Given the description of an element on the screen output the (x, y) to click on. 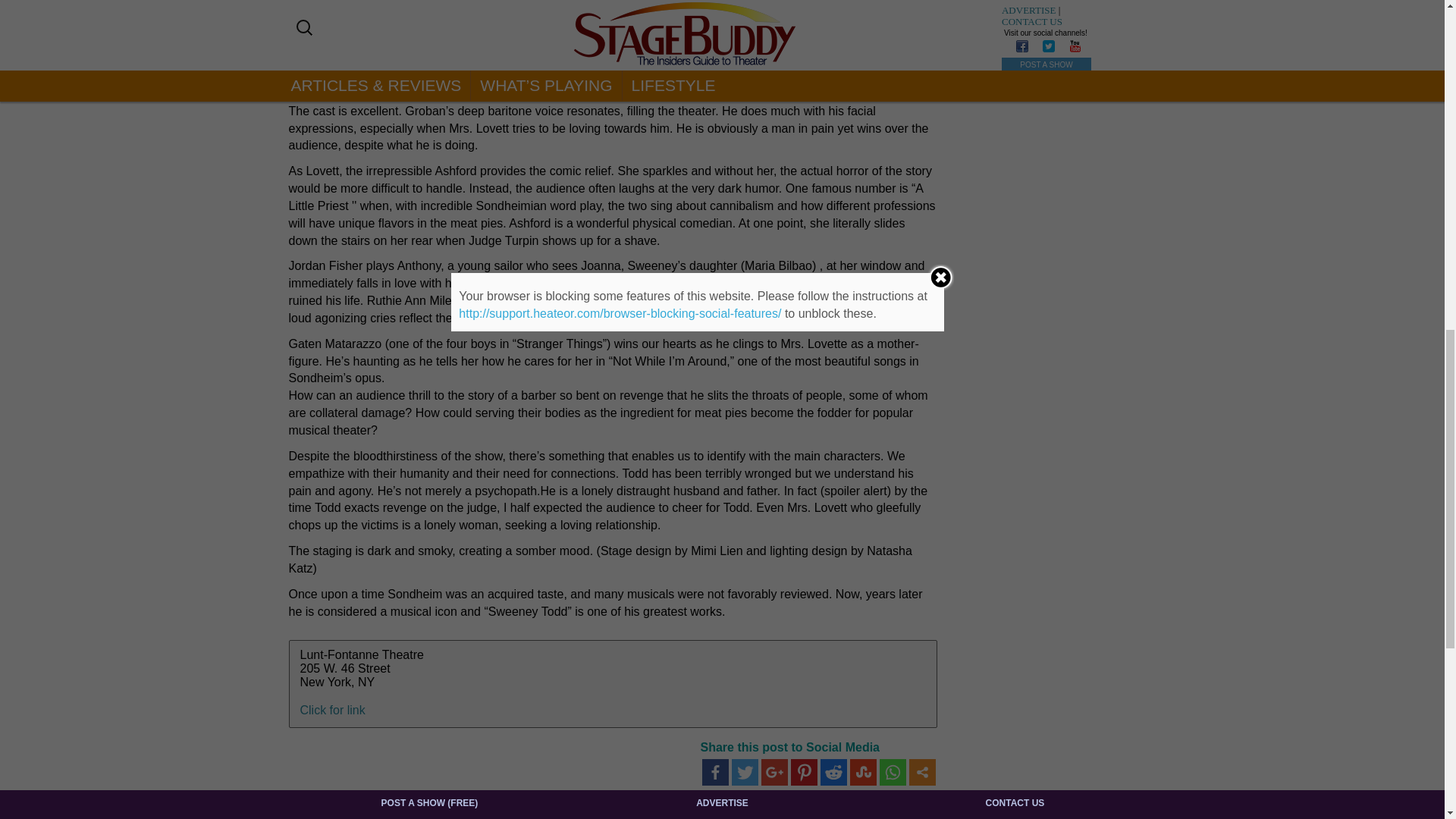
Facebook (715, 772)
Reddit (834, 772)
Stumbleupon (862, 772)
Google plus (774, 772)
Whatsapp (892, 772)
Pinterest (803, 772)
More (921, 772)
Twitter (743, 772)
Click for link (332, 709)
